Given the description of an element on the screen output the (x, y) to click on. 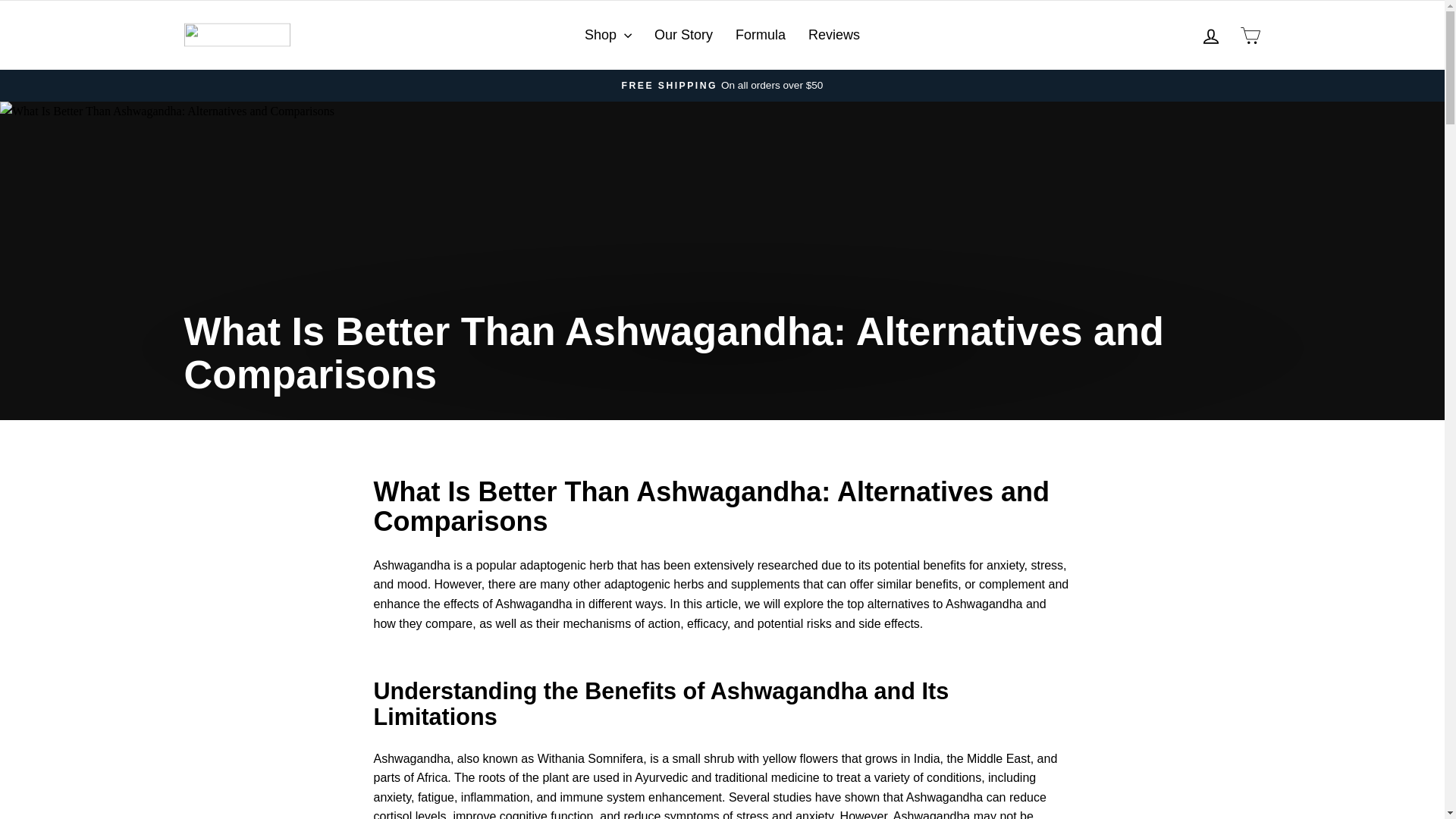
Reviews (1210, 34)
account (833, 35)
Cart (1210, 35)
Our Story (1249, 34)
Formula (683, 35)
